Given the description of an element on the screen output the (x, y) to click on. 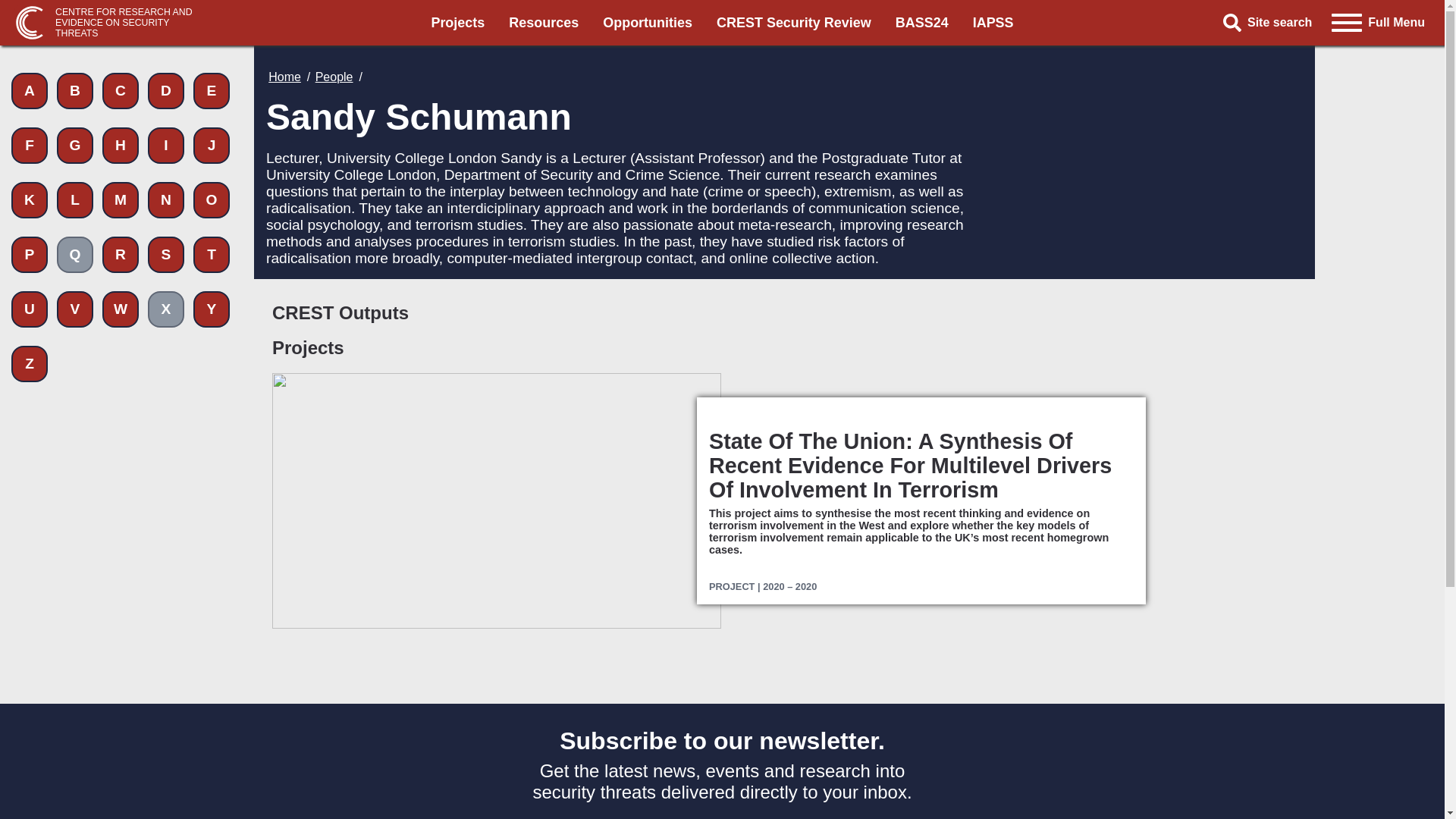
CREST Security Review (793, 23)
H (119, 145)
L (74, 199)
People (334, 76)
Home (284, 76)
Full Menu (1377, 22)
D (166, 90)
Resources (543, 23)
P (29, 254)
Z (29, 363)
